Given the description of an element on the screen output the (x, y) to click on. 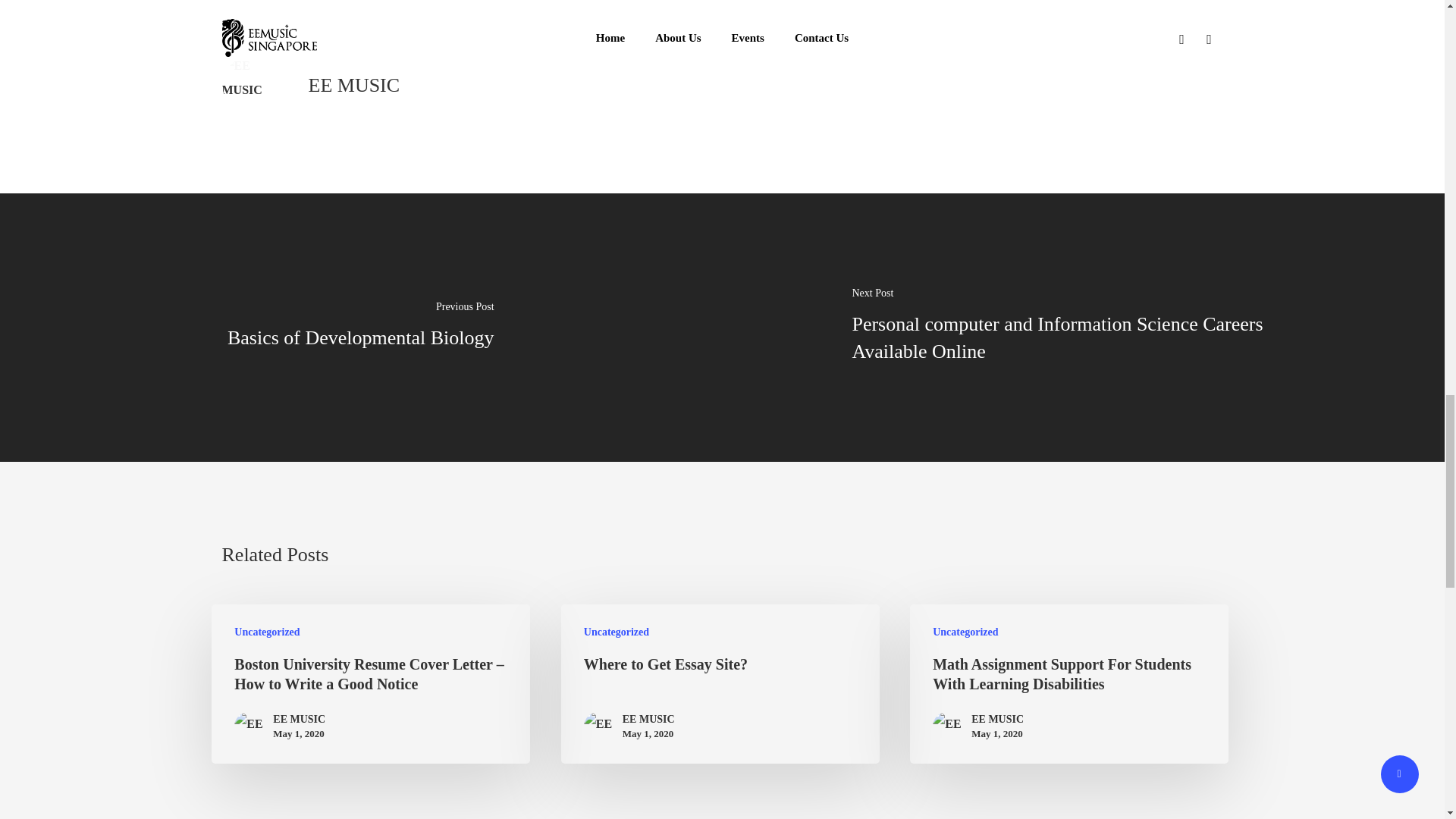
EE MUSIC (352, 85)
Uncategorized (266, 631)
Uncategorized (965, 631)
Uncategorized (616, 631)
EE MUSIC (997, 719)
EE MUSIC (649, 719)
EE MUSIC (298, 719)
